Given the description of an element on the screen output the (x, y) to click on. 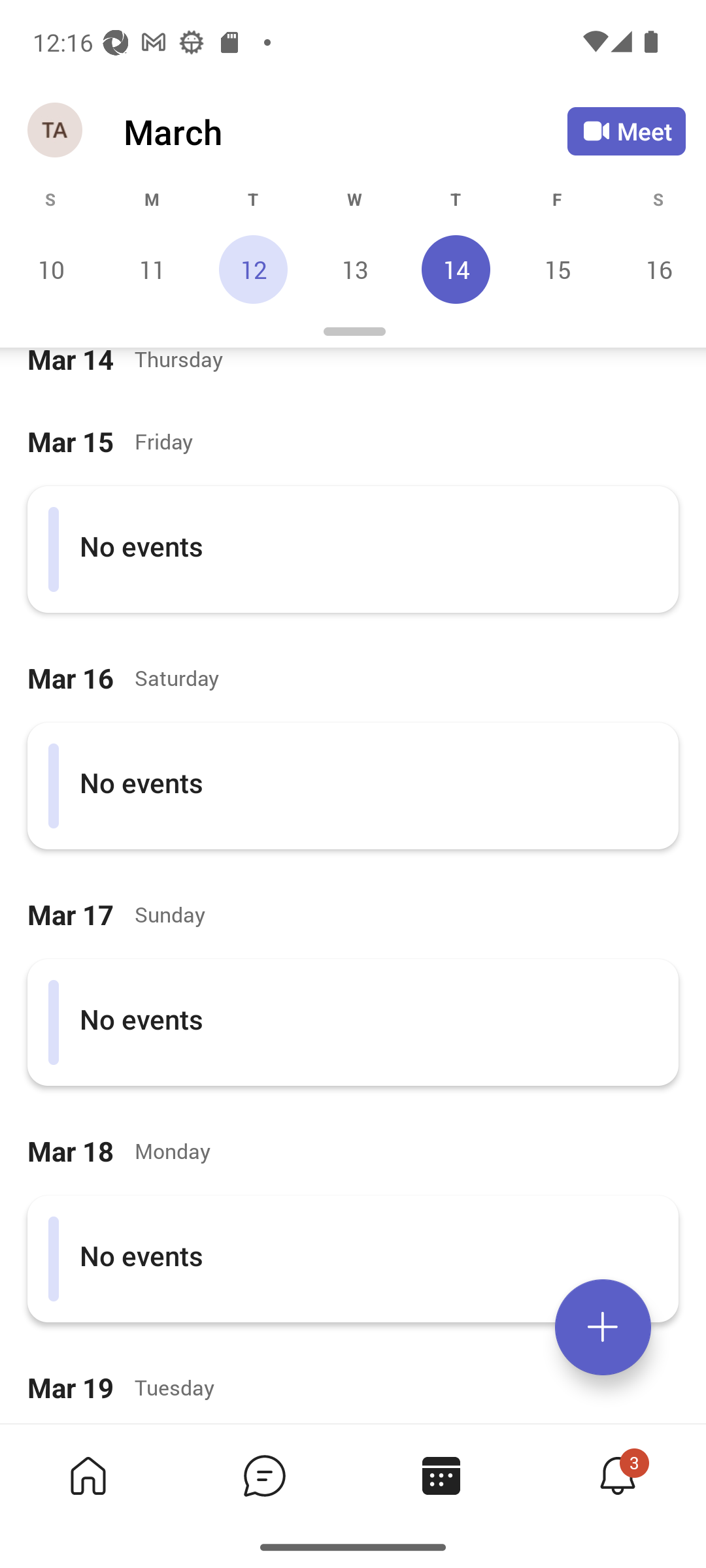
Navigation (56, 130)
Meet Meet now or join with an ID (626, 130)
March March Calendar Agenda View (345, 131)
Sunday, March 10 10 (50, 269)
Monday, March 11 11 (151, 269)
Tuesday, March 12, Today 12 (253, 269)
Wednesday, March 13 13 (354, 269)
Thursday, March 14, Selected 14 (455, 269)
Friday, March 15 15 (556, 269)
Saturday, March 16 16 (656, 269)
Expand meetings menu (602, 1327)
Home tab,1 of 4, not selected (88, 1475)
Chat tab,2 of 4, not selected (264, 1475)
Calendar tab, 3 of 4 (441, 1475)
Activity tab,4 of 4, not selected, 3 new 3 (617, 1475)
